Given the description of an element on the screen output the (x, y) to click on. 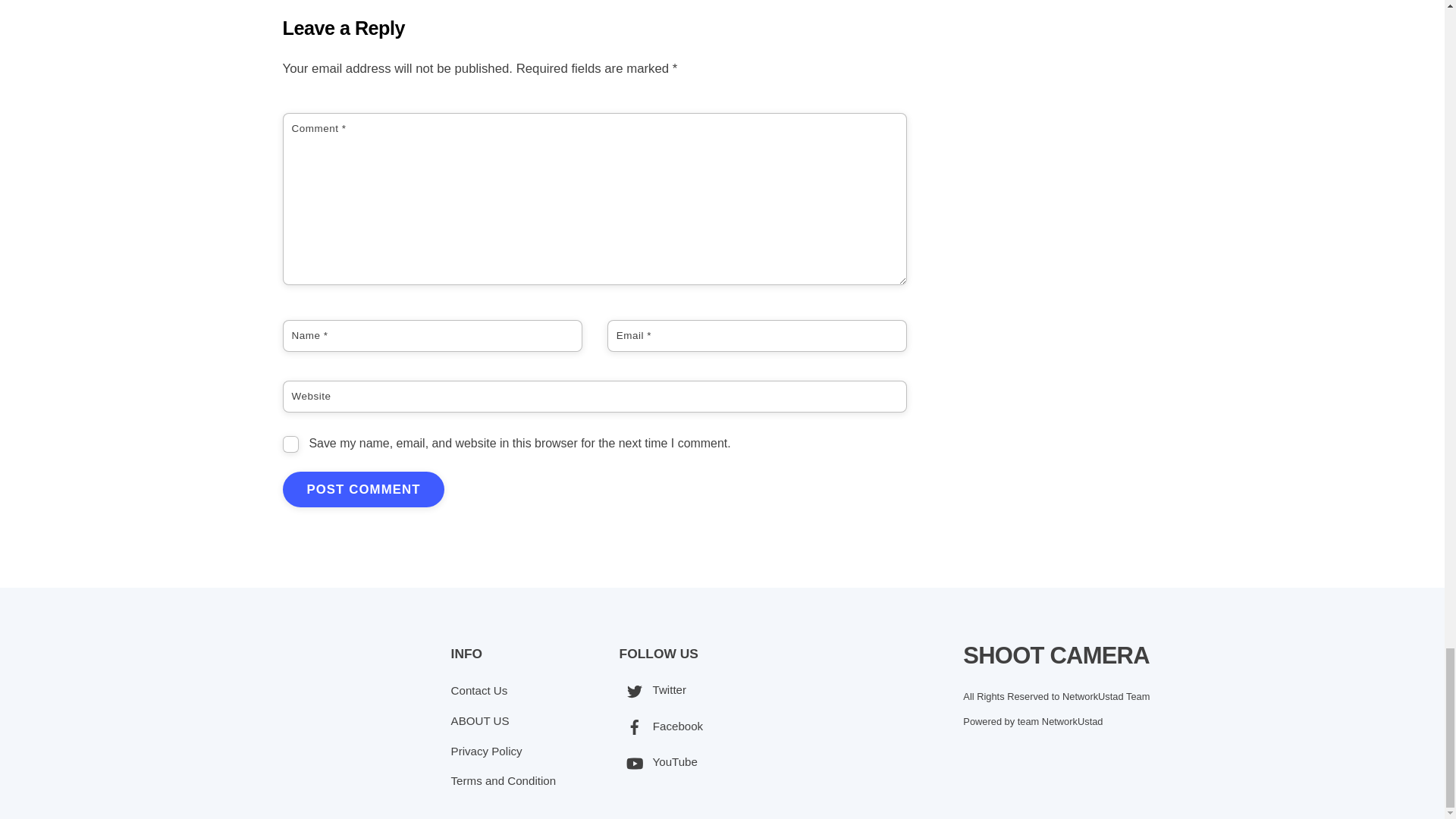
Post Comment (363, 488)
yes (290, 443)
